Given the description of an element on the screen output the (x, y) to click on. 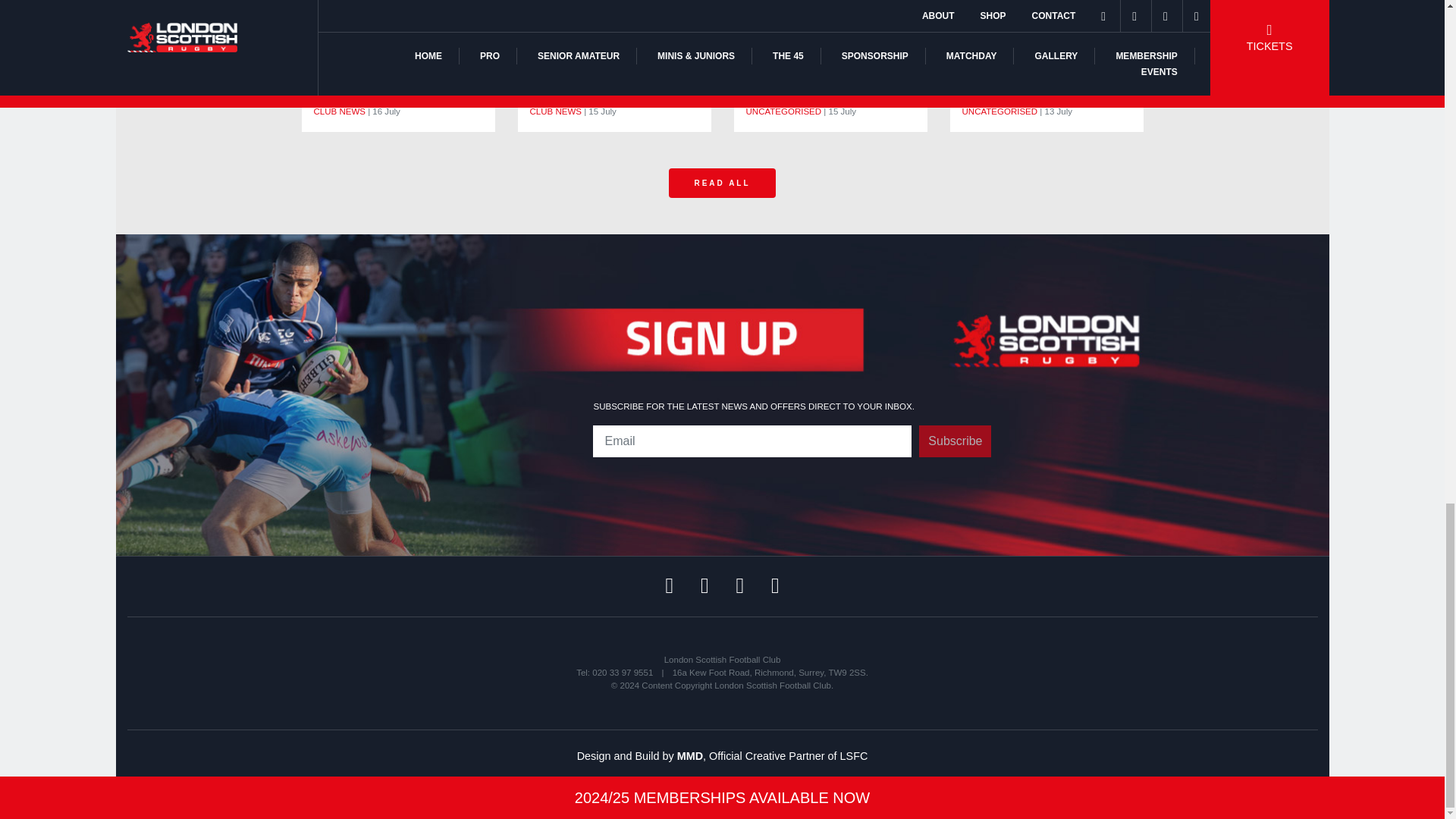
Subscribe (954, 441)
